Given the description of an element on the screen output the (x, y) to click on. 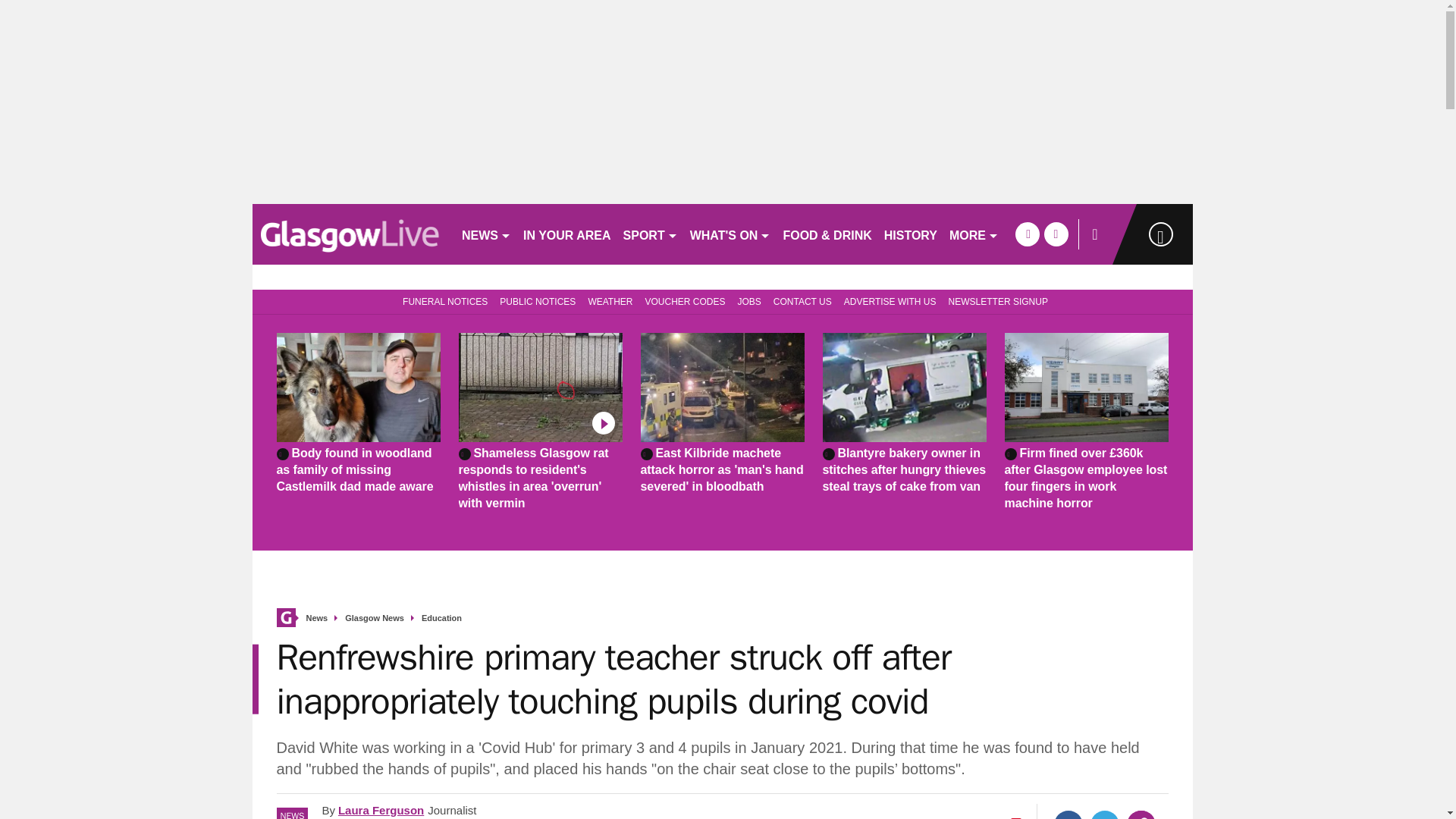
WHAT'S ON (730, 233)
MORE (973, 233)
NEWS (485, 233)
IN YOUR AREA (566, 233)
glasgowlive (349, 233)
facebook (1026, 233)
SPORT (650, 233)
Facebook (1068, 814)
HISTORY (910, 233)
Twitter (1104, 814)
